Given the description of an element on the screen output the (x, y) to click on. 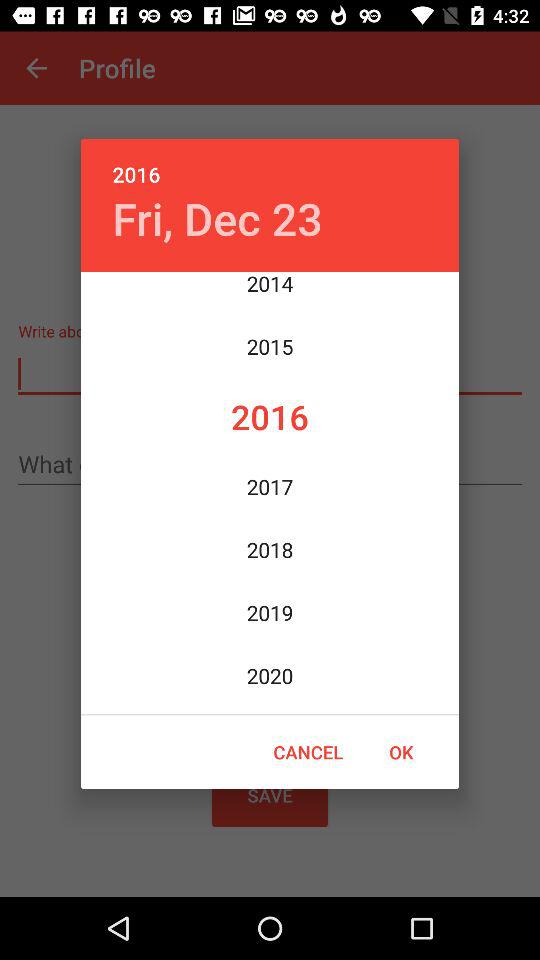
scroll until the cancel icon (308, 751)
